Given the description of an element on the screen output the (x, y) to click on. 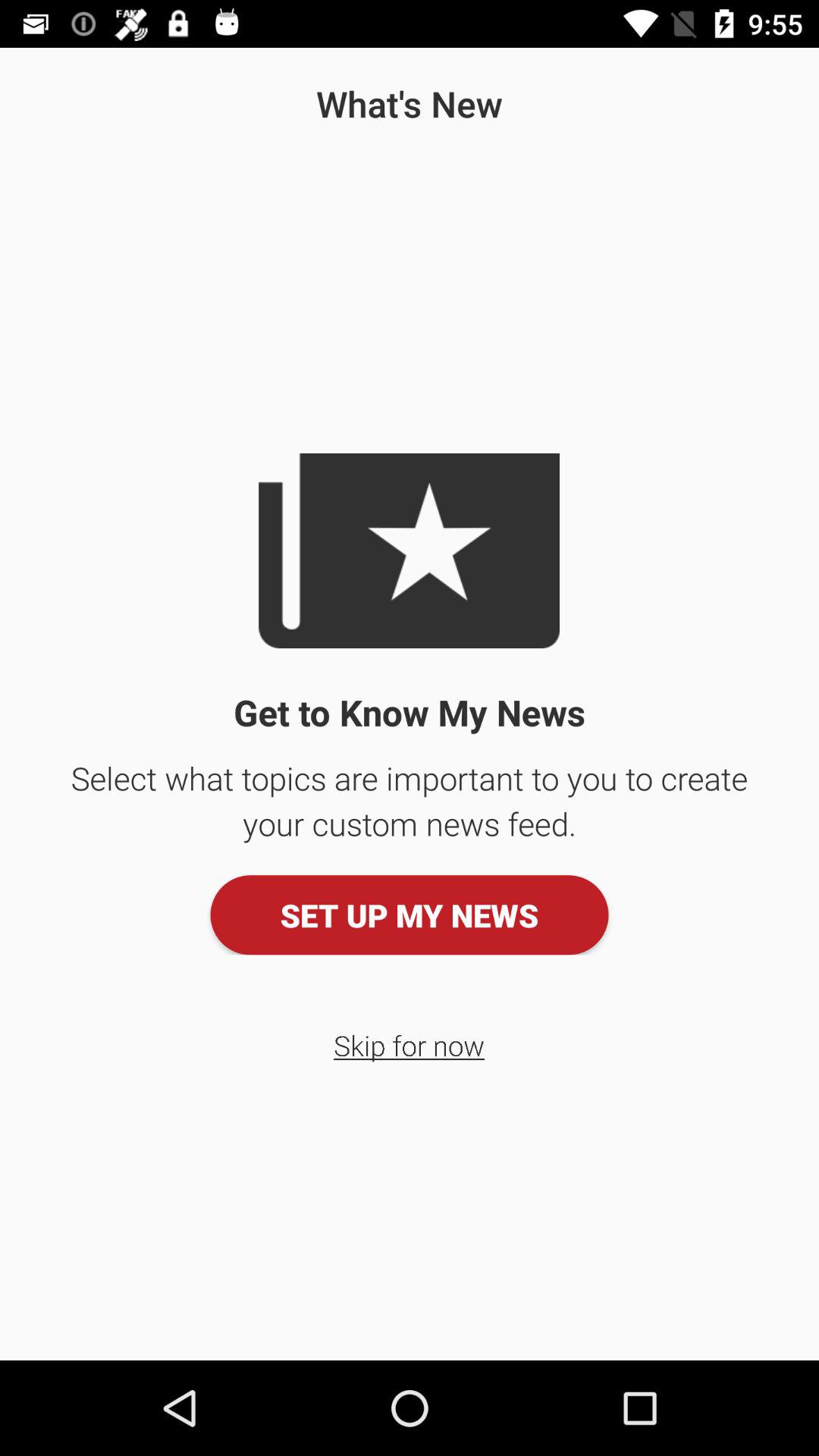
scroll to the set up my icon (409, 914)
